Given the description of an element on the screen output the (x, y) to click on. 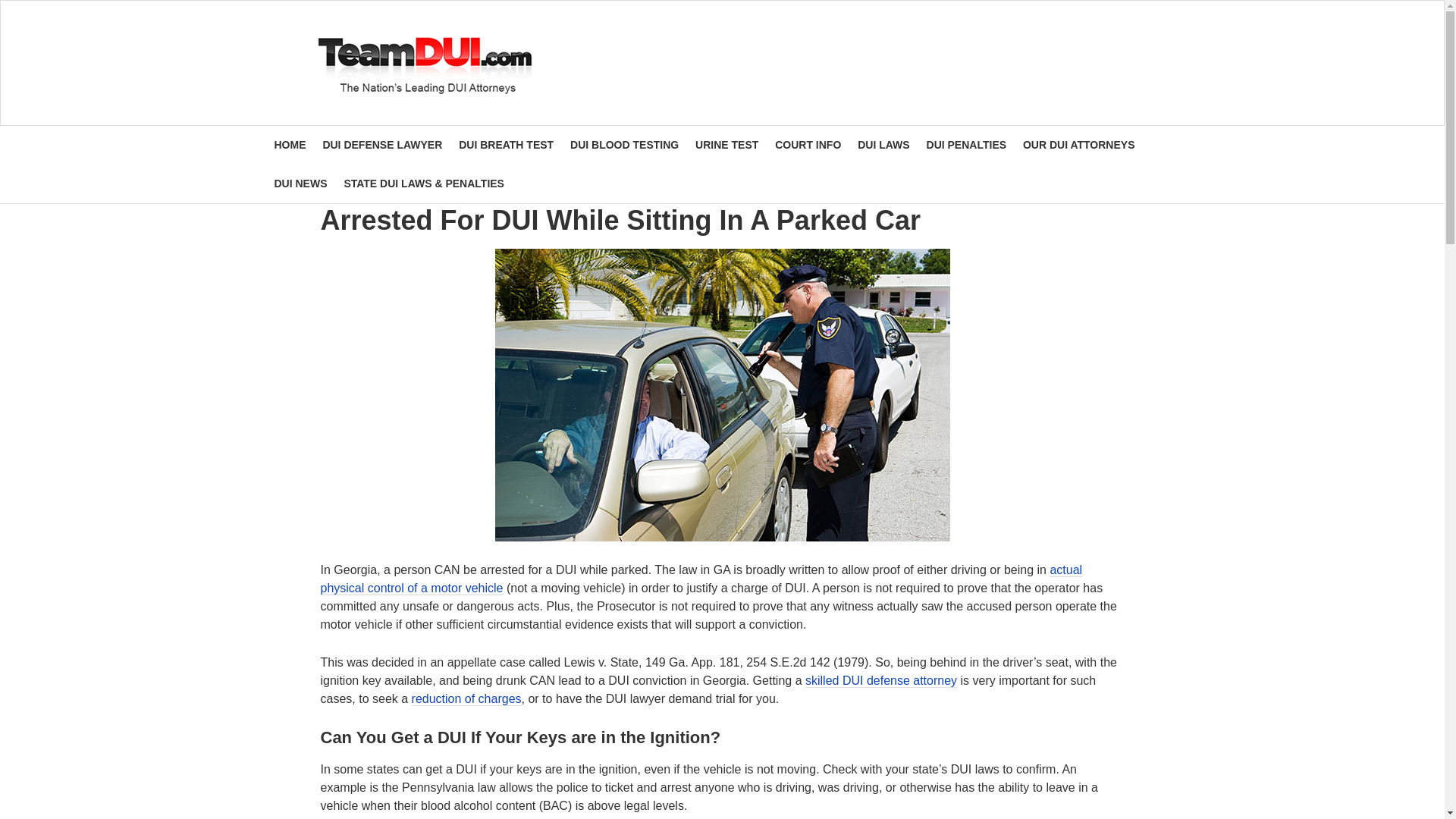
DUI BLOOD TESTING (624, 145)
HOME (289, 145)
DUI BREATH TEST (505, 145)
DUI DEFENSE LAWYER (381, 145)
URINE TEST (726, 145)
